Given the description of an element on the screen output the (x, y) to click on. 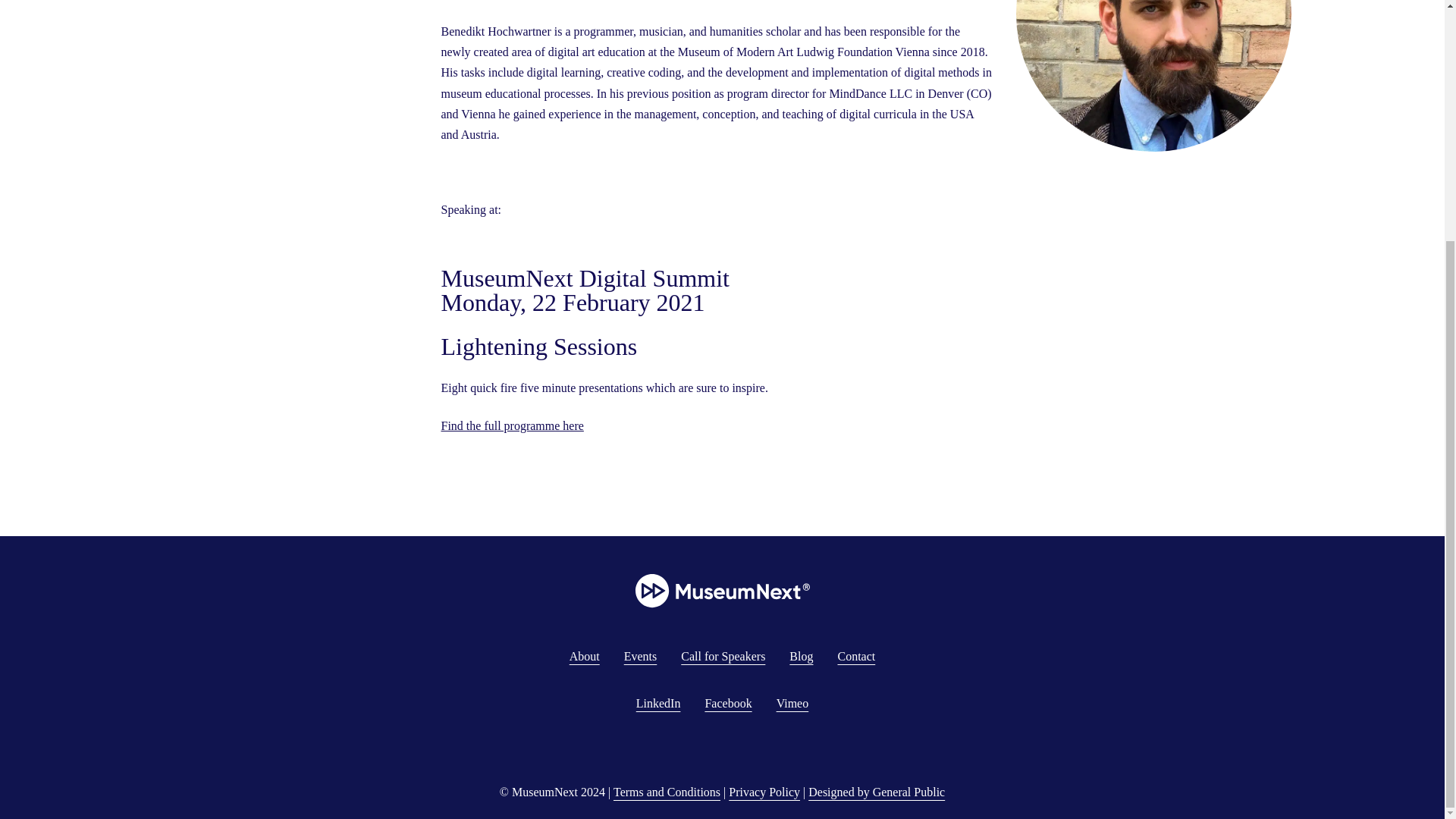
Privacy Policy (764, 791)
Blog (800, 656)
Events (641, 656)
About (584, 656)
LinkedIn (658, 703)
Contact (856, 656)
Designed by General Public (876, 791)
Facebook (727, 703)
Terms and Conditions (666, 791)
Vimeo (792, 703)
Call for Speakers (723, 656)
Find the full programme here (512, 425)
